Given the description of an element on the screen output the (x, y) to click on. 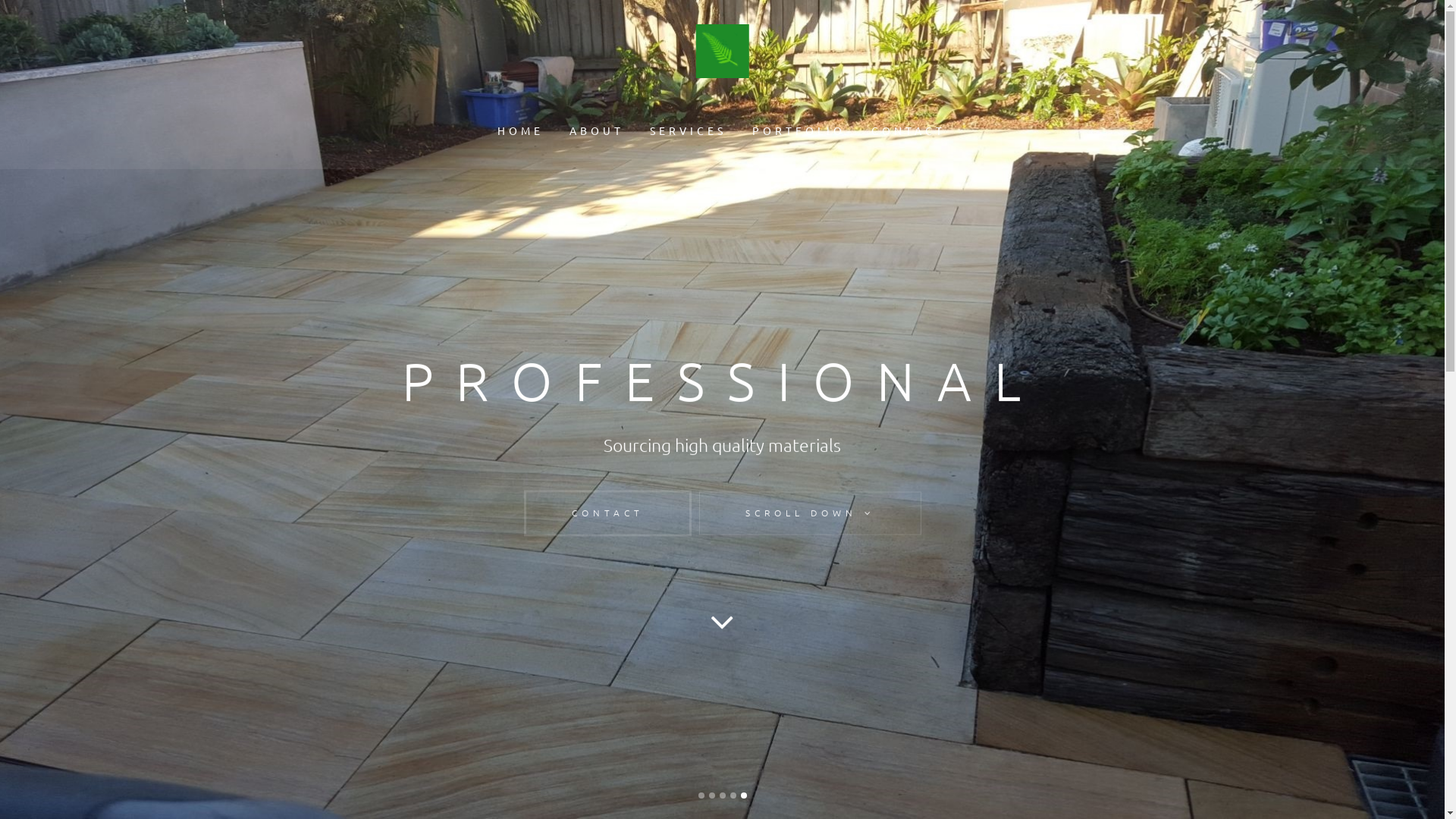
CONTACT Element type: text (908, 130)
CONTACT Element type: text (606, 550)
PORTFOLIO Element type: text (797, 130)
ABOUT Element type: text (596, 130)
HOME Element type: text (519, 130)
SCROLL DOWN Element type: text (810, 545)
SERVICES Element type: text (688, 130)
